Given the description of an element on the screen output the (x, y) to click on. 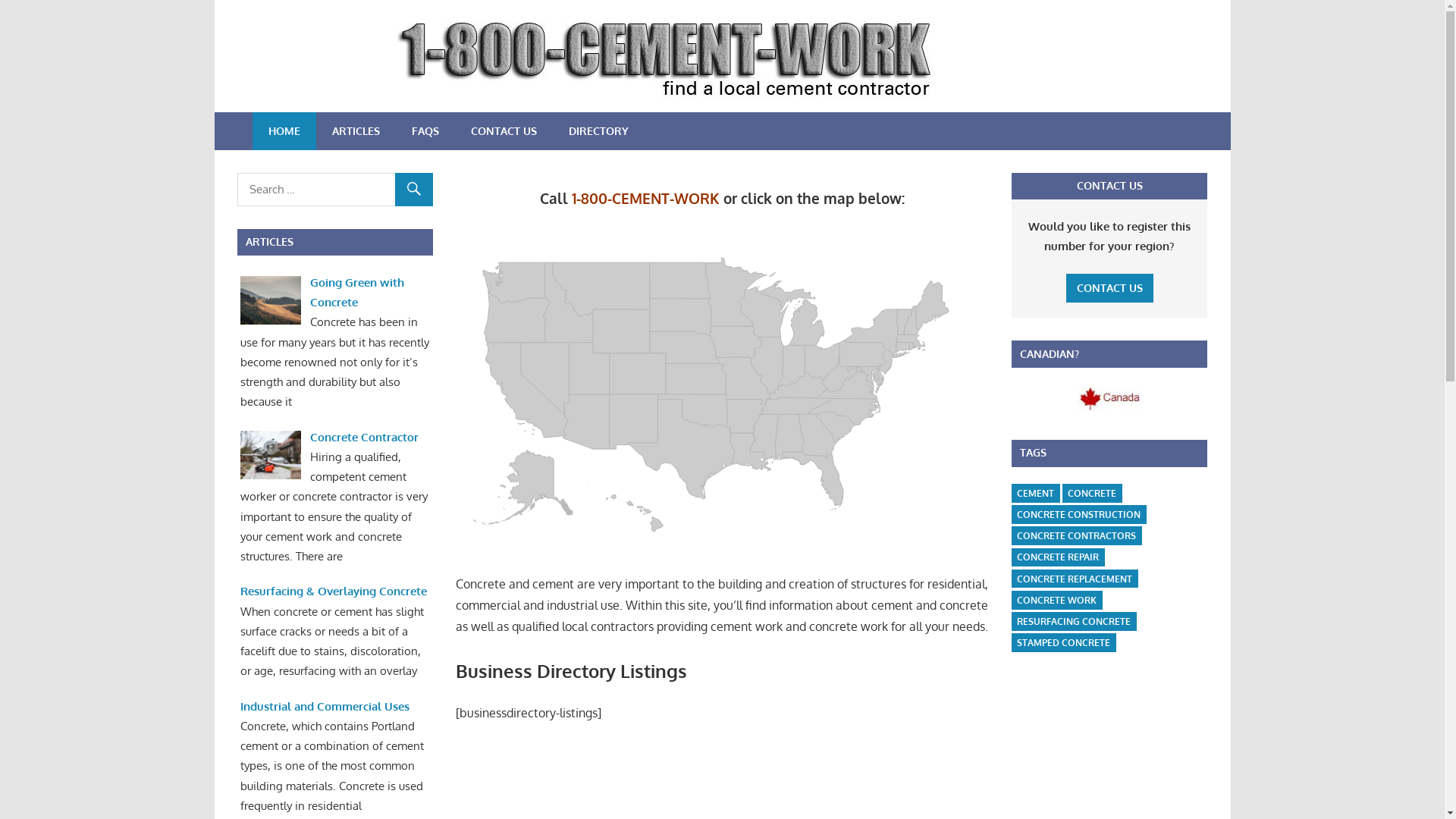
CONTACT US Element type: text (1109, 288)
Concrete Contractor Element type: text (364, 436)
CONTACT US Element type: text (1109, 287)
FAQS Element type: text (425, 131)
ARTICLES Element type: text (355, 131)
CONTACT US Element type: text (503, 131)
RESURFACING CONCRETE Element type: text (1073, 620)
CEMENT Element type: text (1035, 492)
CONCRETE WORK Element type: text (1056, 599)
HOME Element type: text (283, 131)
1-800-CEMENT-WORK Element type: text (645, 198)
Resurfacing & Overlaying Concrete Element type: text (333, 590)
CONCRETE REPAIR Element type: text (1057, 557)
Going Green with Concrete Element type: text (357, 292)
DIRECTORY Element type: text (597, 131)
CONCRETE CONTRACTORS Element type: text (1076, 535)
CONCRETE CONSTRUCTION Element type: text (1078, 514)
CONCRETE Element type: text (1091, 492)
Search for: Element type: hover (334, 189)
CONCRETE REPLACEMENT Element type: text (1074, 578)
Industrial and Commercial Uses Element type: text (324, 706)
STAMPED CONCRETE Element type: text (1063, 642)
